Given the description of an element on the screen output the (x, y) to click on. 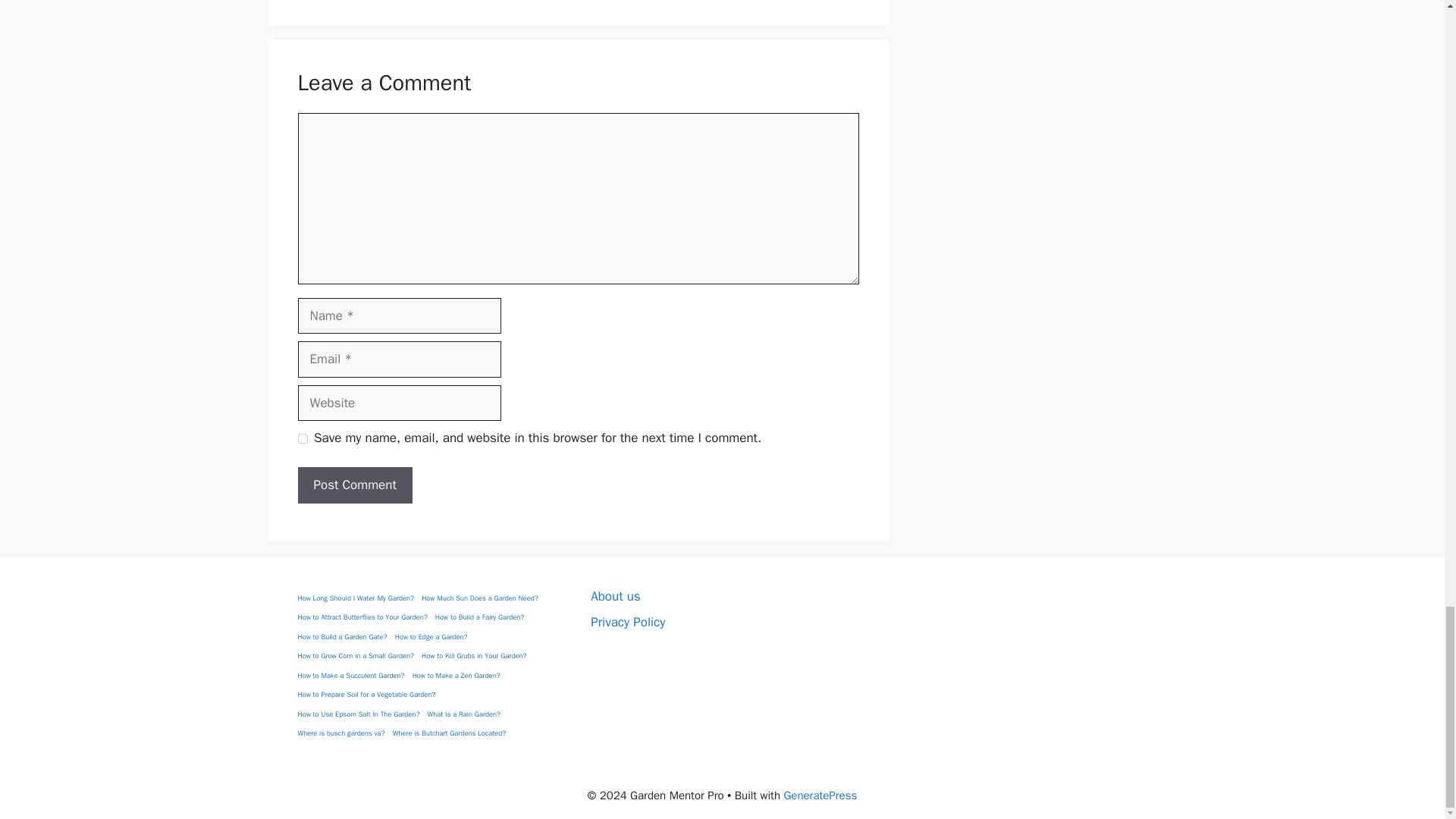
How to Build a Garden Gate? (342, 637)
How to Prepare Soil for a Vegetable Garden? (366, 695)
How to Edge a Garden? (430, 637)
How to Grow Corn in a Small Garden? (355, 656)
Post Comment (354, 484)
How to Use Epsom Salt In The Garden? (358, 715)
How to Make a Zen Garden? (456, 675)
Post Comment (354, 484)
yes (302, 438)
How Long Should I Water My Garden? (355, 598)
What Is a Rain Garden? (464, 715)
Where is busch gardens va? (340, 733)
How to Attract Butterflies to Your Garden? (361, 617)
How to Build a Fairy Garden? (479, 617)
How Much Sun Does a Garden Need? (480, 598)
